Given the description of an element on the screen output the (x, y) to click on. 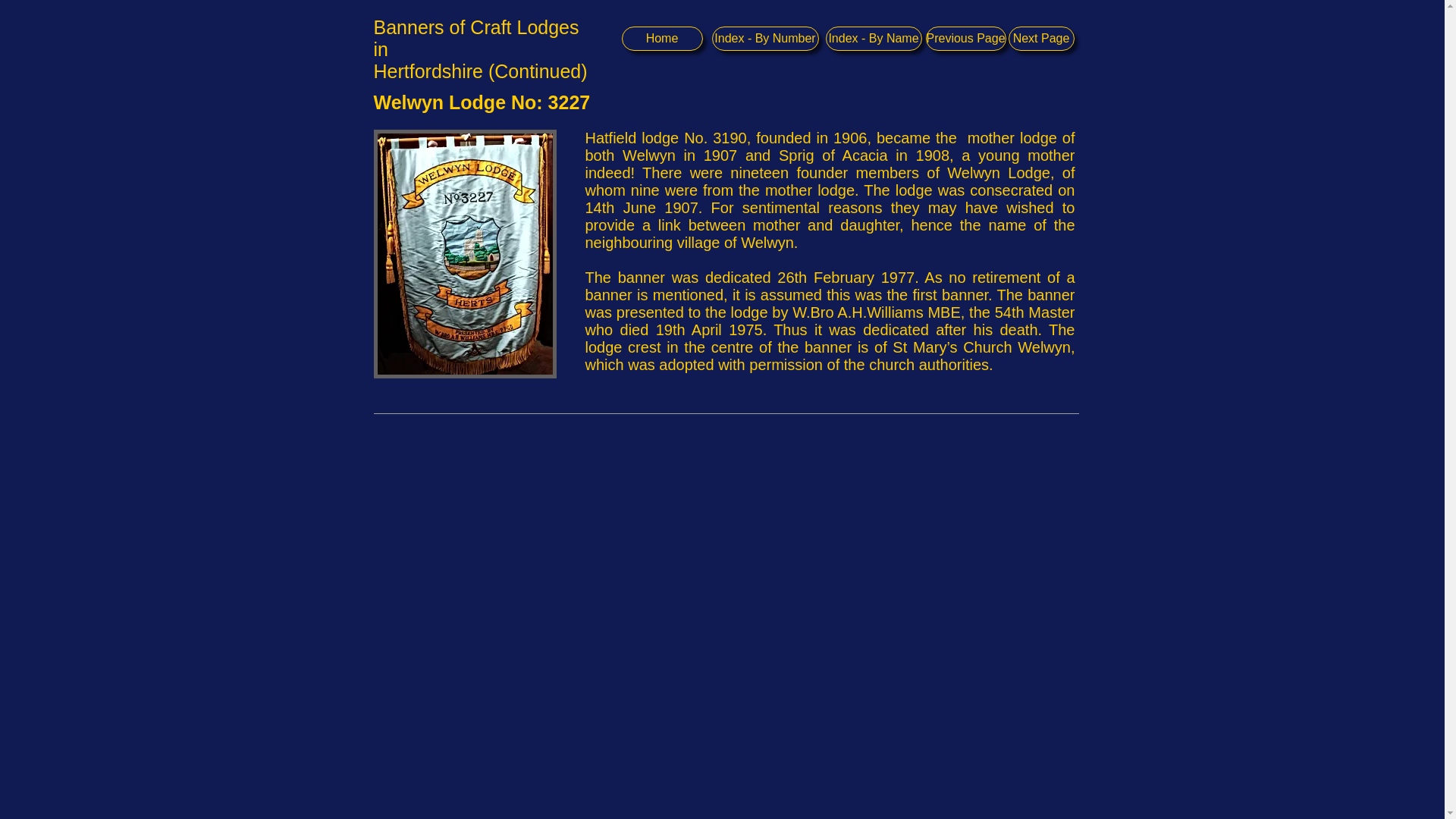
Index - By Number (764, 38)
Home (662, 38)
